Given the description of an element on the screen output the (x, y) to click on. 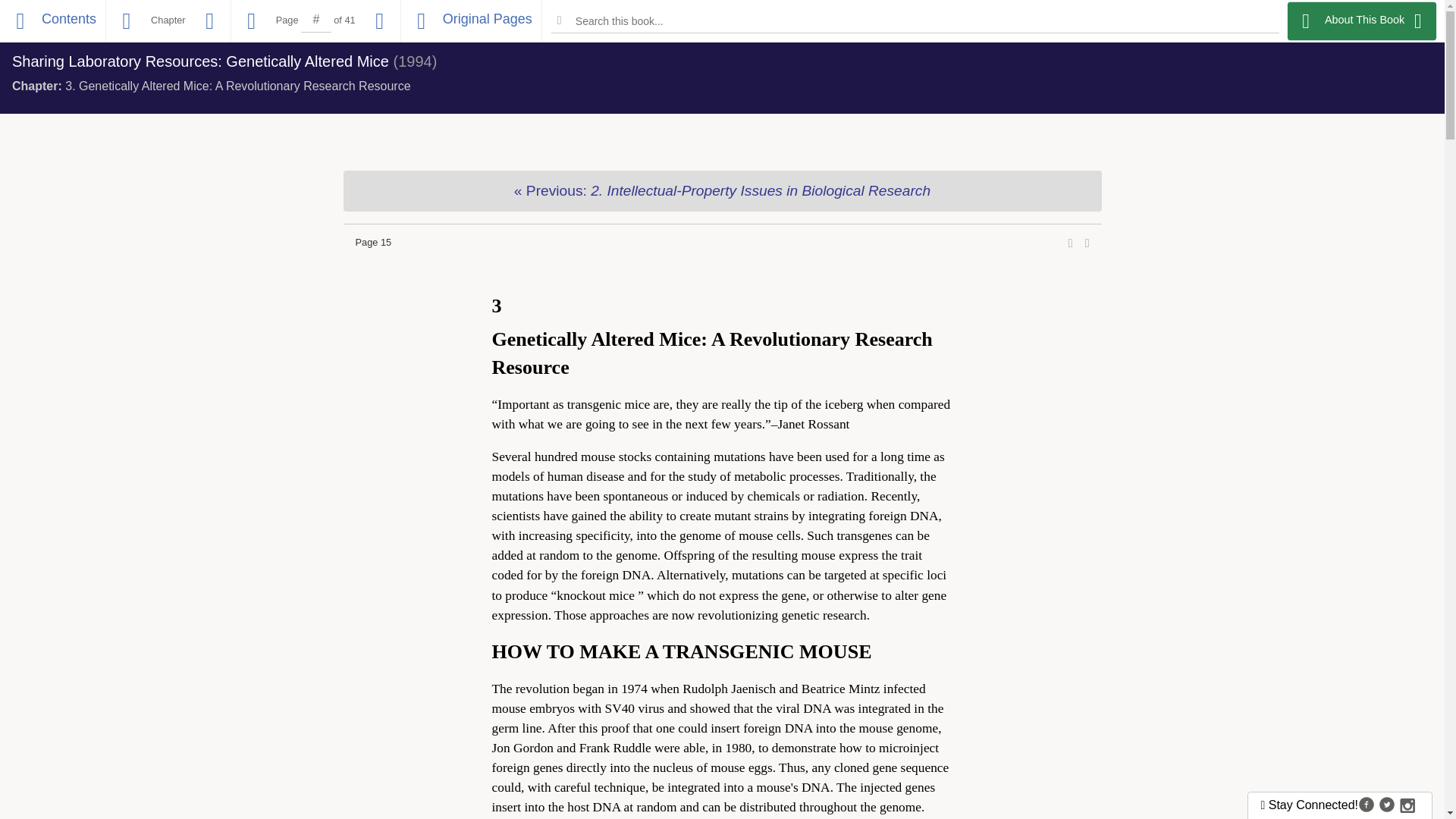
Cart (1377, 22)
Sharing Laboratory Resources: Genetically Altered Mice (199, 61)
Previous Chapter (721, 190)
Help (1418, 22)
Register (1326, 22)
Login (1272, 22)
